Given the description of an element on the screen output the (x, y) to click on. 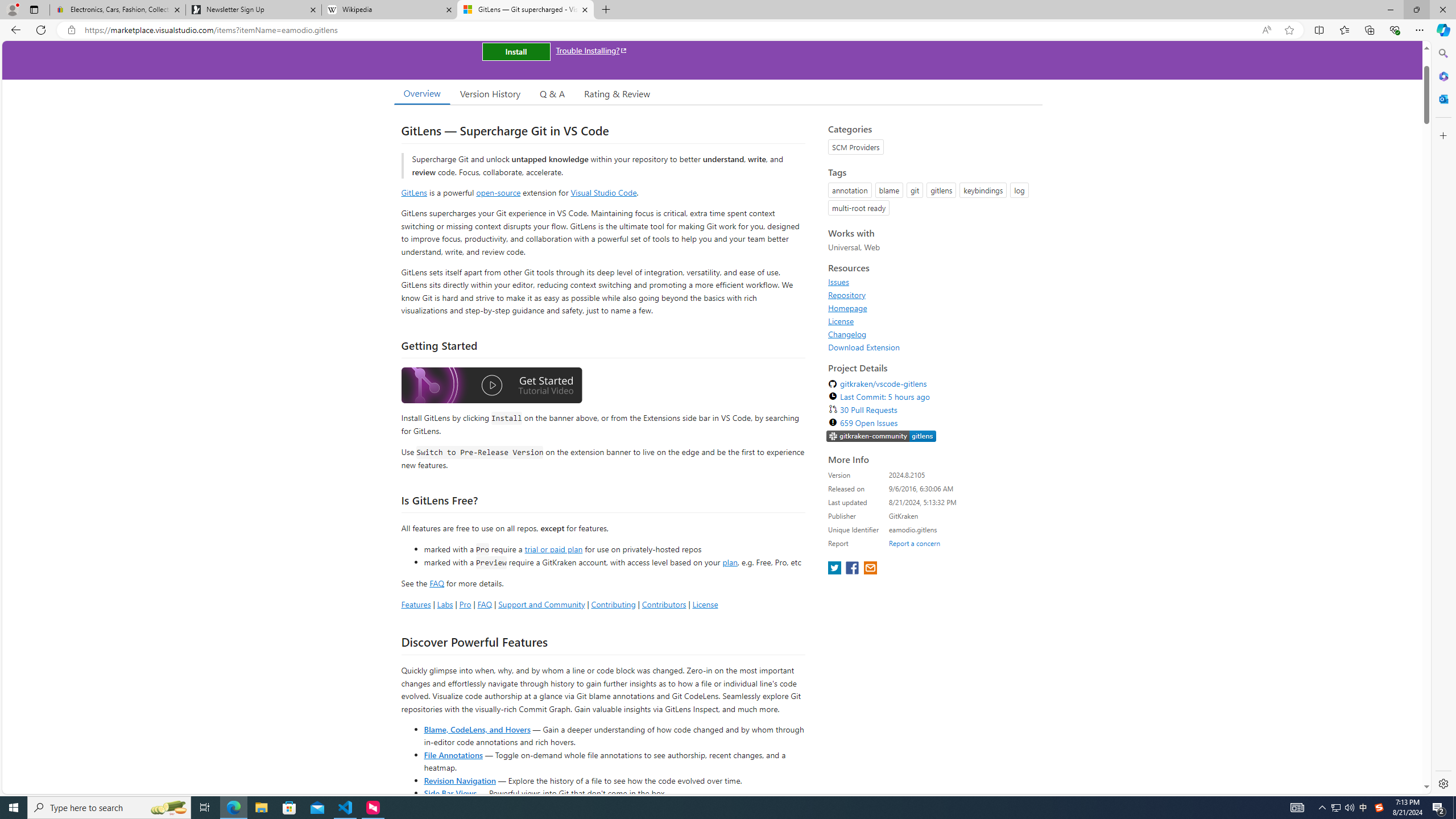
share extension on twitter (835, 568)
Changelog (931, 333)
Support and Community (541, 603)
trial or paid plan (553, 548)
Issues (931, 281)
Q & A (552, 92)
Repository (847, 294)
